Given the description of an element on the screen output the (x, y) to click on. 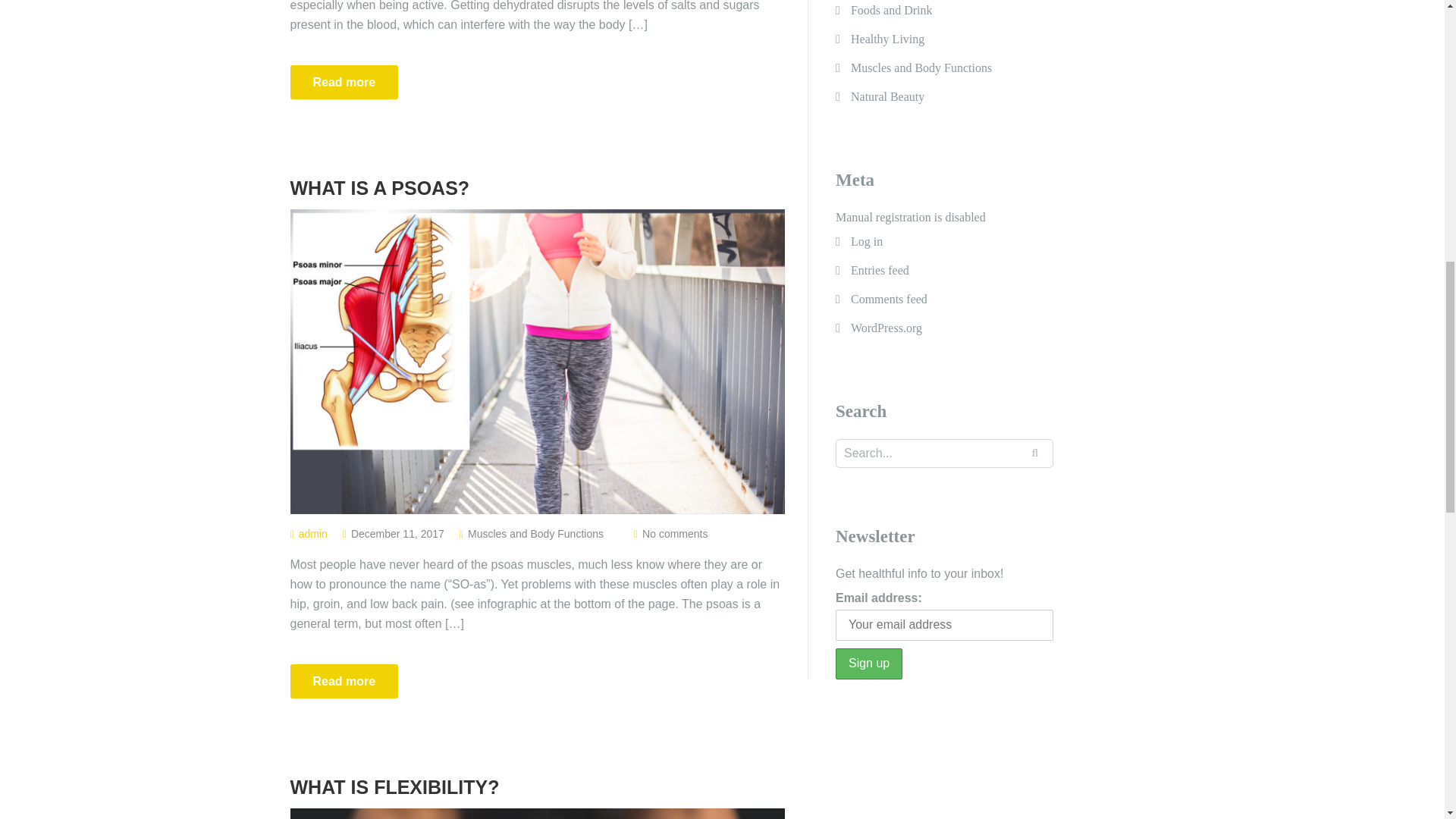
Healthy Living (887, 39)
Log in (866, 241)
Foods and Drink (891, 12)
Read more (343, 82)
Read more (343, 82)
Sign up (868, 663)
Entries feed (879, 269)
What is Flexibility? (536, 786)
Muscles and Body Functions (920, 68)
Natural Beauty (887, 96)
